Given the description of an element on the screen output the (x, y) to click on. 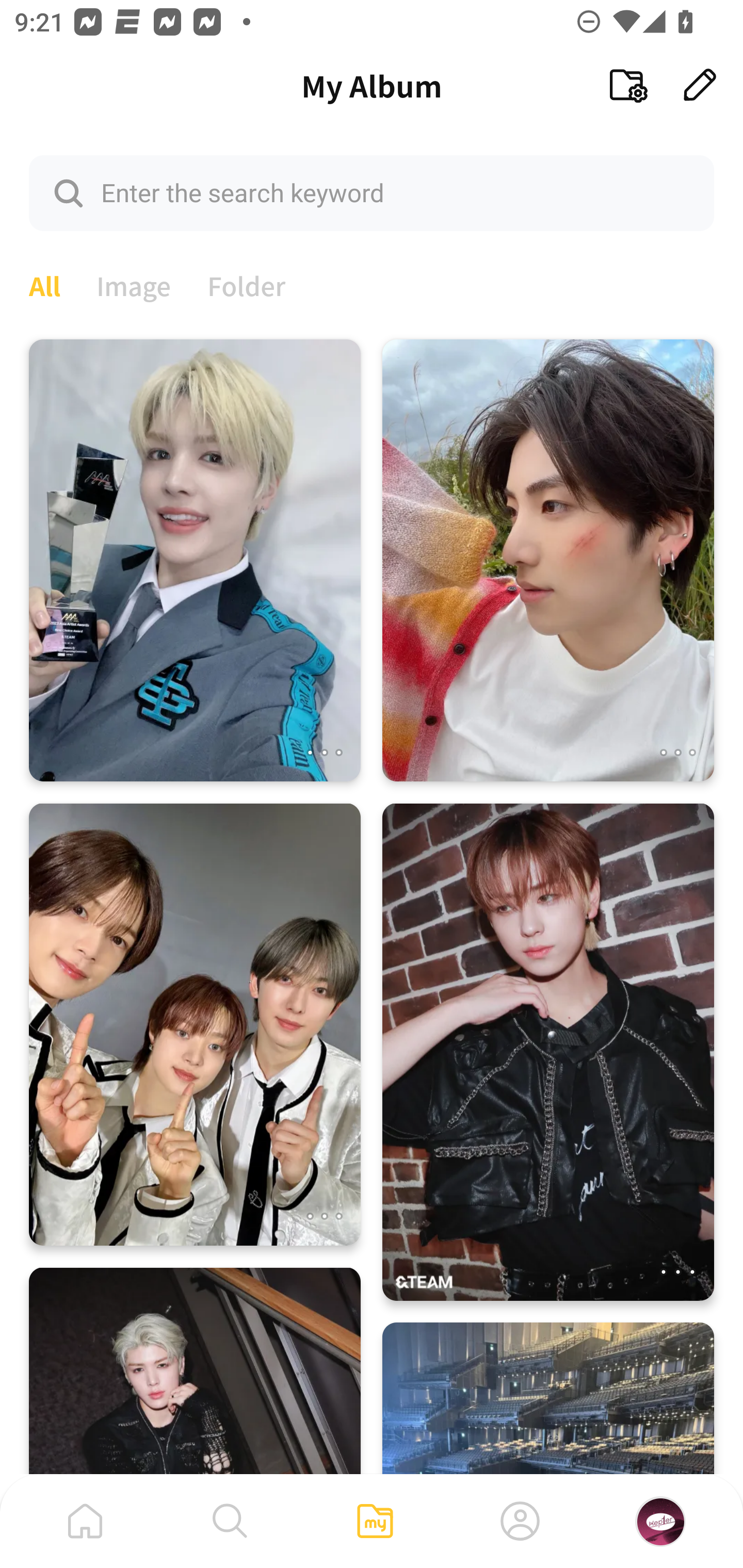
Enter the search keyword (371, 192)
All (44, 284)
Image (133, 284)
Folder (246, 284)
